Given the description of an element on the screen output the (x, y) to click on. 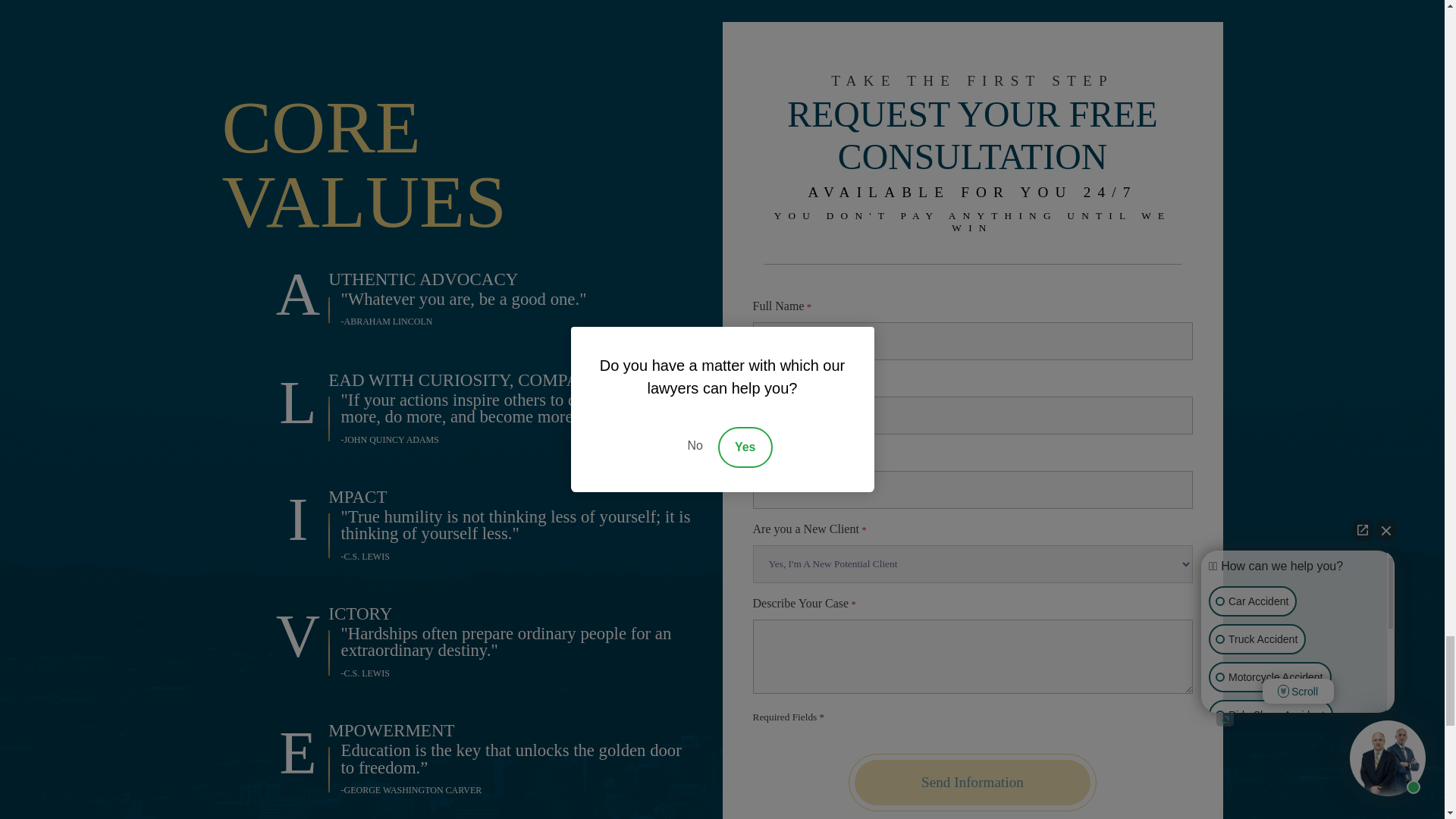
Send Information (972, 782)
